Given the description of an element on the screen output the (x, y) to click on. 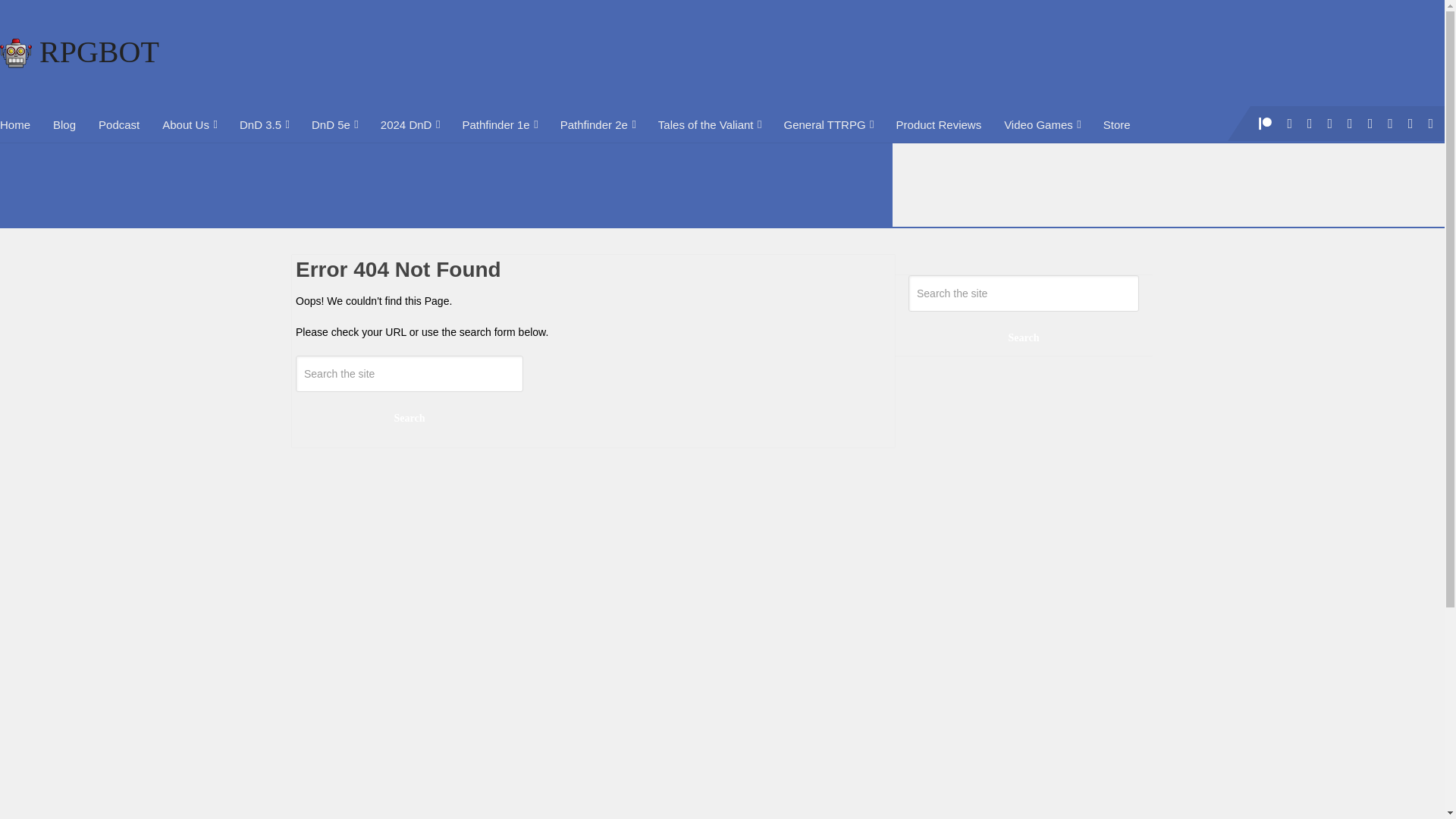
About Us (189, 124)
2024 DnD (410, 124)
DnD 3.5 (263, 124)
DnD 5e (334, 124)
RPGBOT (79, 52)
Podcast (119, 124)
Blog (64, 124)
Pathfinder 1e (498, 124)
Home (21, 124)
